Given the description of an element on the screen output the (x, y) to click on. 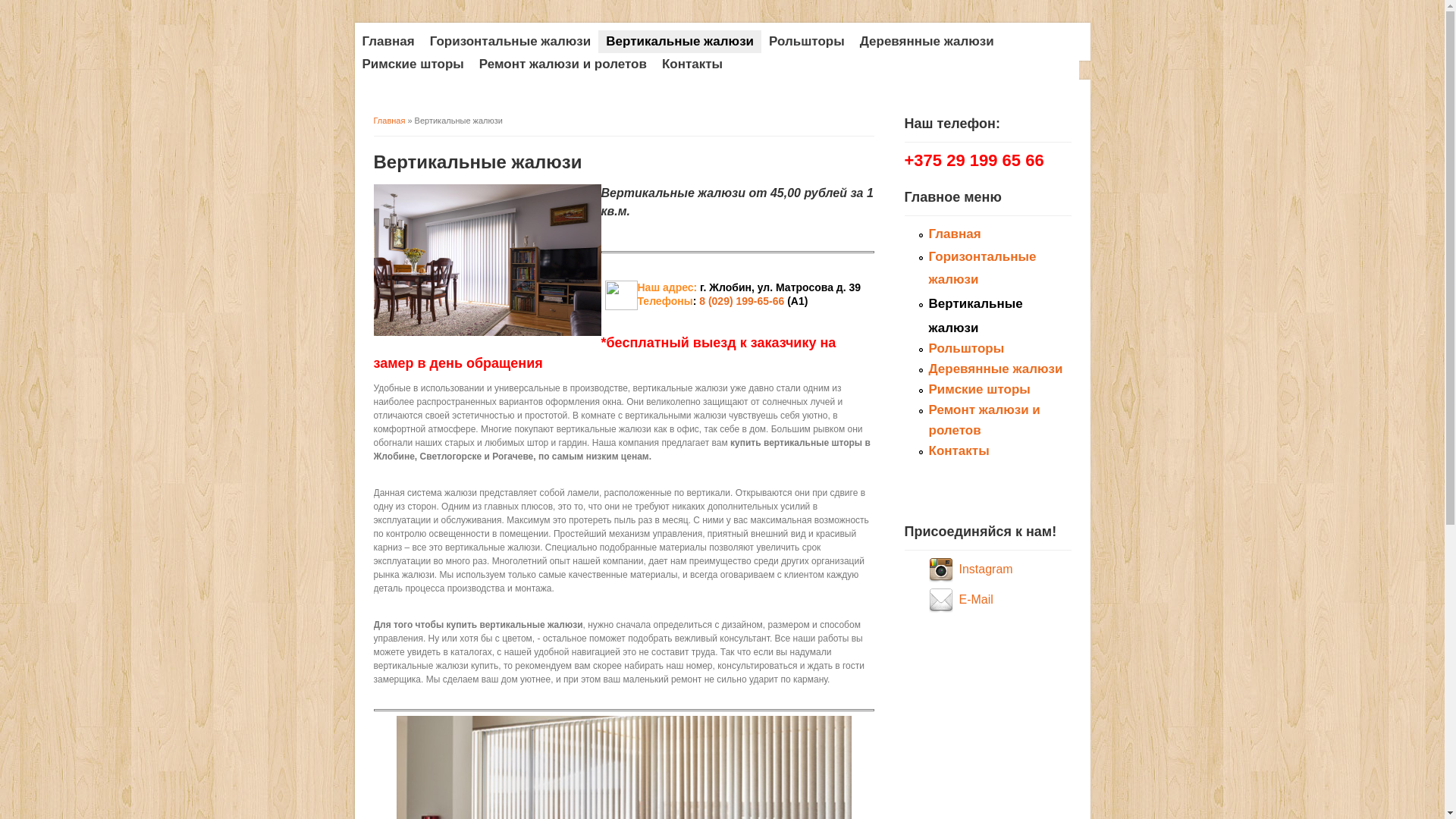
Instagram Element type: text (985, 568)
E-Mail Element type: hover (943, 599)
E-Mail Element type: text (975, 599)
+375 29 199 65 66 Element type: text (973, 161)
 8 (029) 199-65-66 Element type: text (740, 300)
Instagram Element type: hover (943, 568)
